Given the description of an element on the screen output the (x, y) to click on. 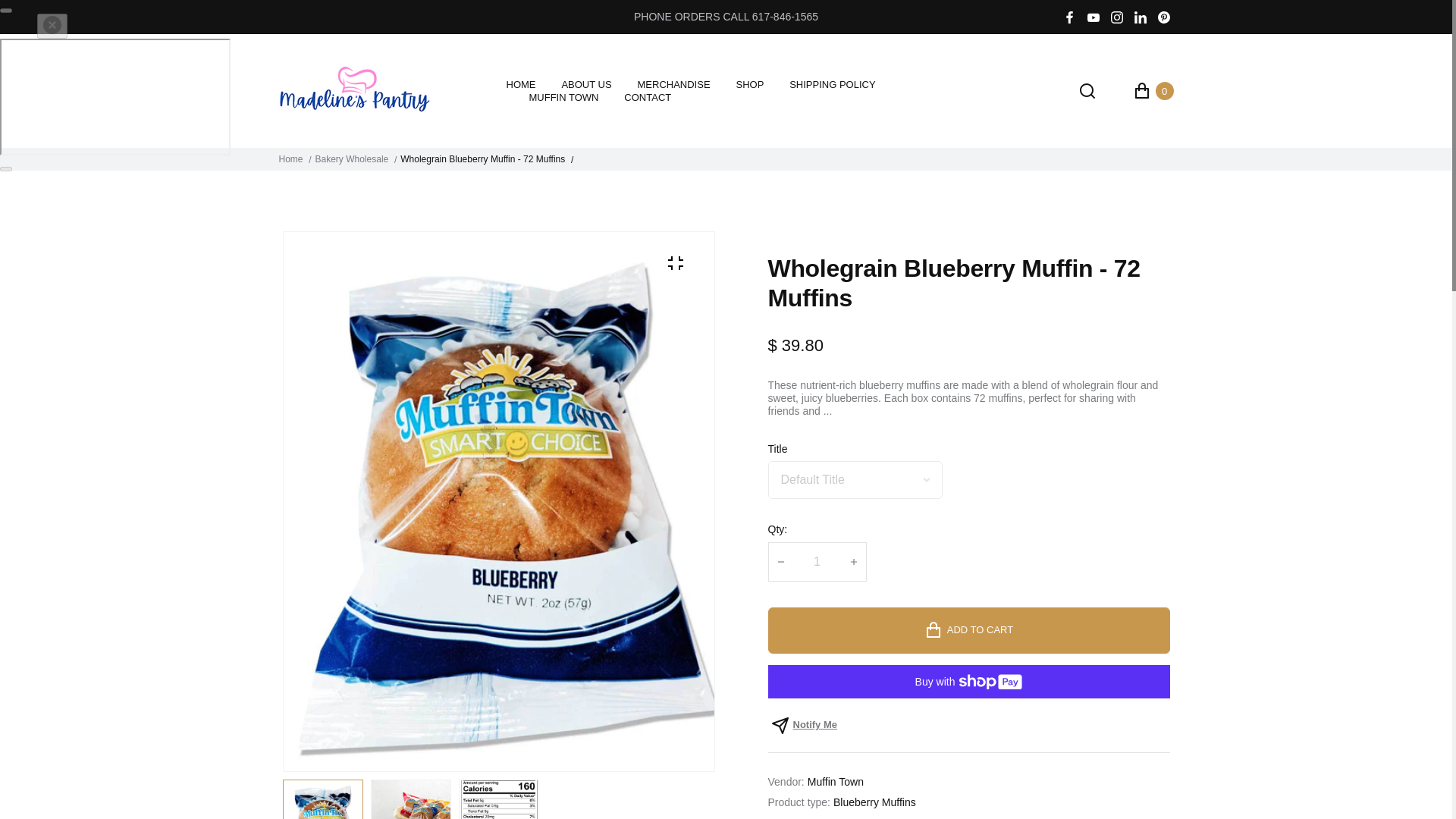
Home (290, 158)
ABOUT US (585, 84)
MERCHANDISE (673, 84)
HOME (520, 84)
MUFFIN TOWN (563, 97)
SHIPPING POLICY (832, 84)
ADD TO CART (968, 630)
0 (1152, 90)
CONTACT (647, 97)
1 (817, 561)
Bakery Wholesale (351, 158)
SHOP (748, 84)
